Given the description of an element on the screen output the (x, y) to click on. 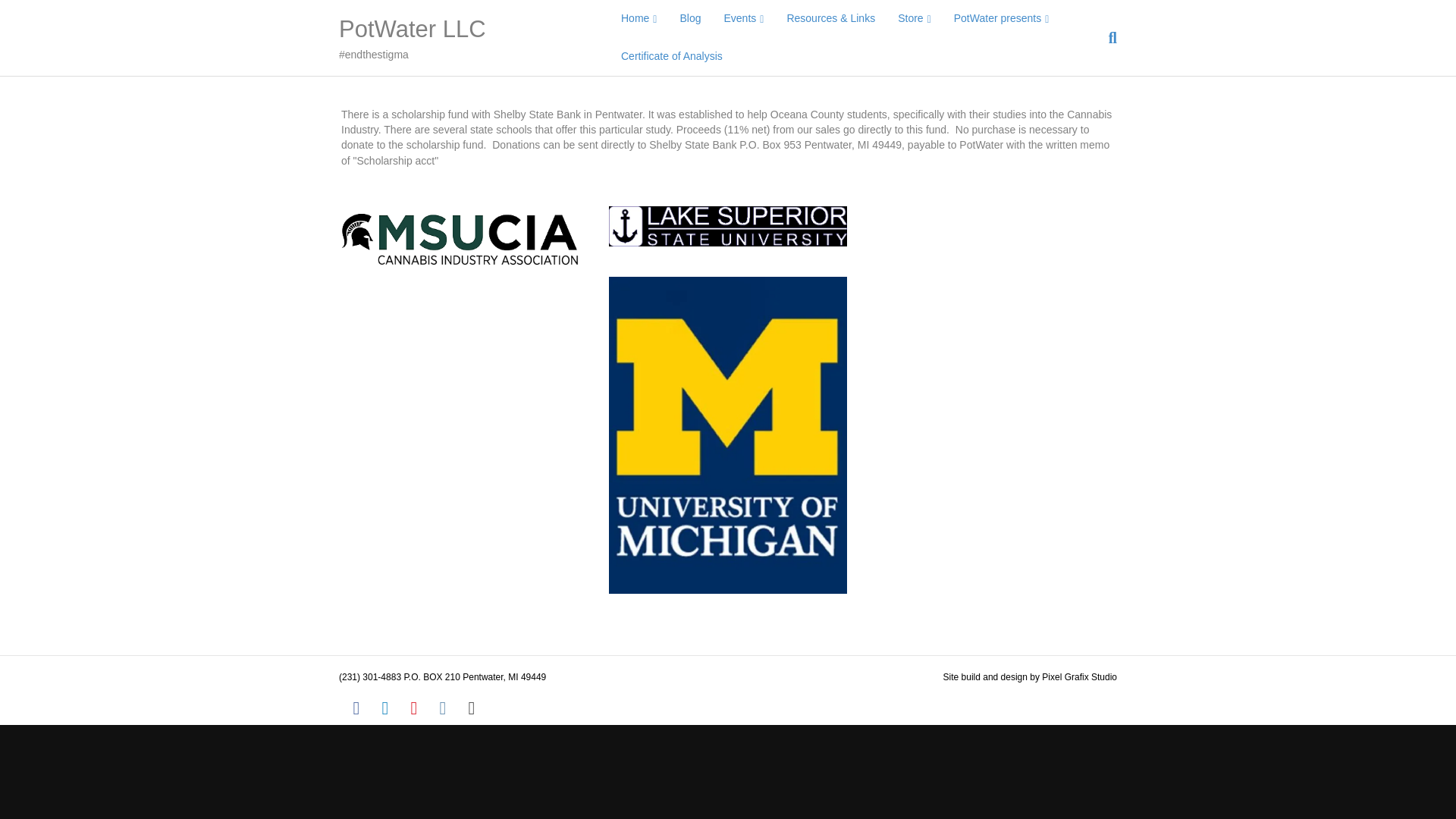
LAKE SUPERIOR (726, 226)
Blog (689, 18)
Events (744, 18)
Home (639, 18)
PotWater LLC (462, 29)
Store (914, 18)
